Given the description of an element on the screen output the (x, y) to click on. 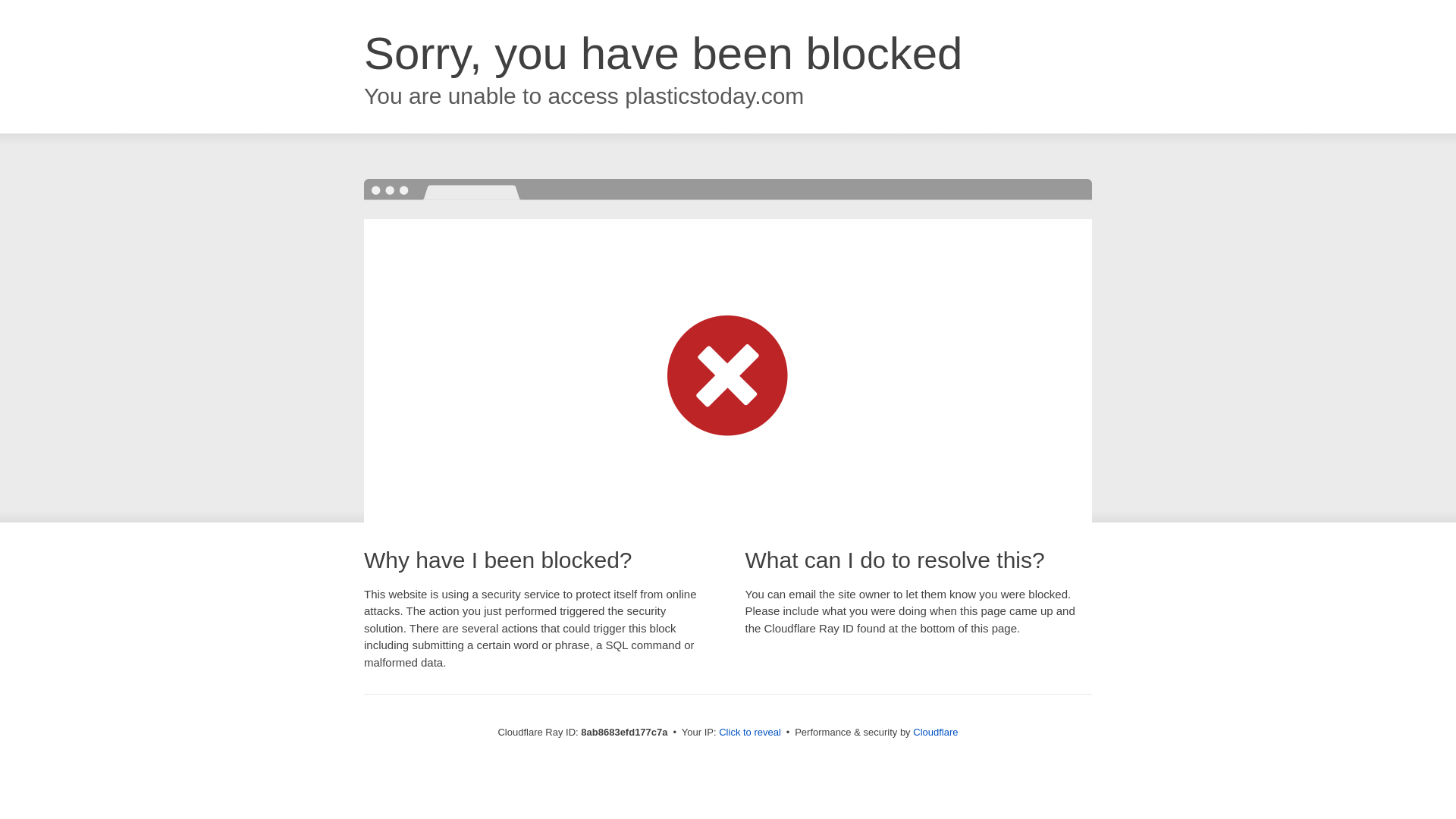
Cloudflare (935, 731)
Click to reveal (749, 732)
